Given the description of an element on the screen output the (x, y) to click on. 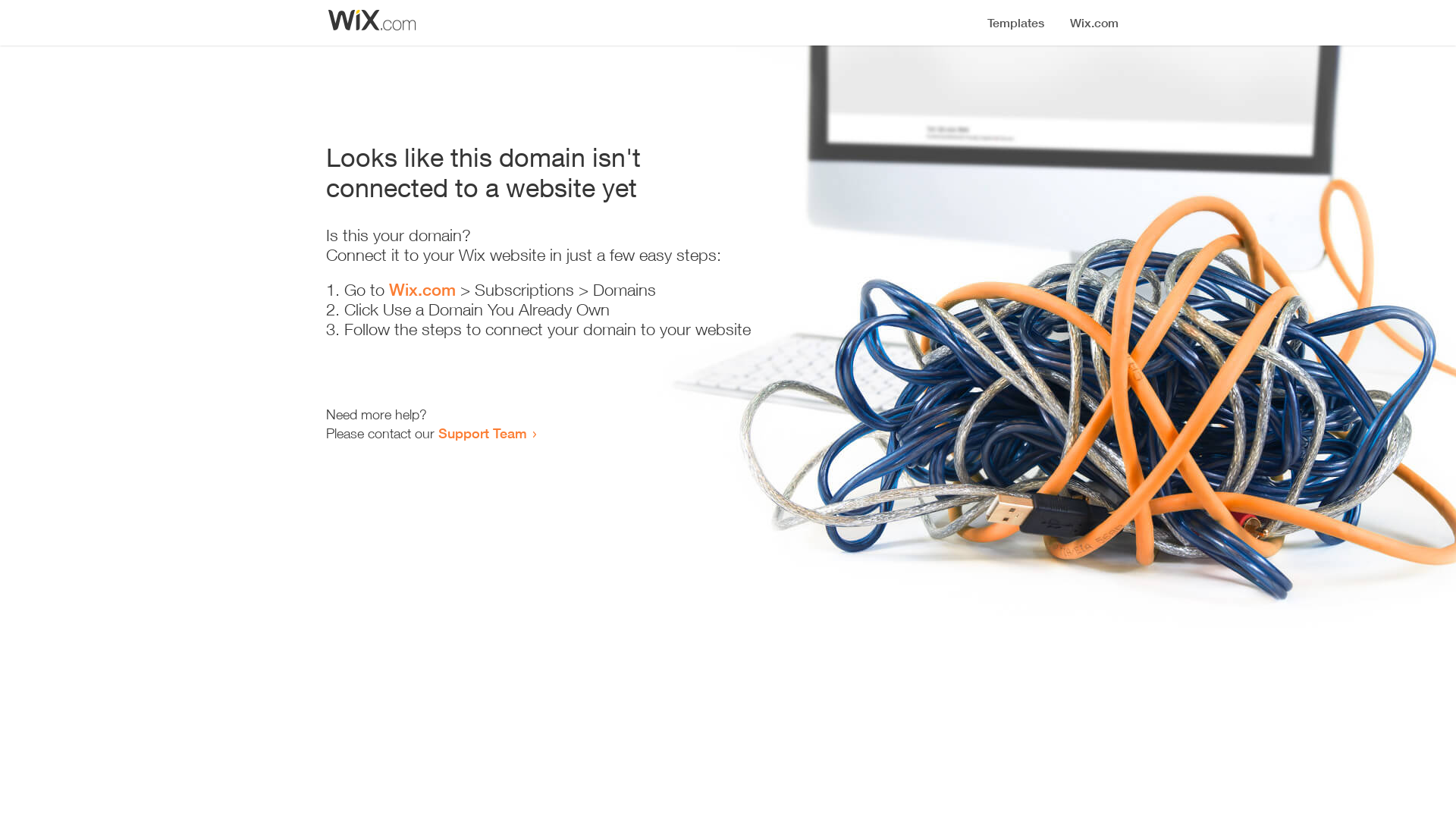
Wix.com Element type: text (422, 289)
Support Team Element type: text (482, 432)
